Given the description of an element on the screen output the (x, y) to click on. 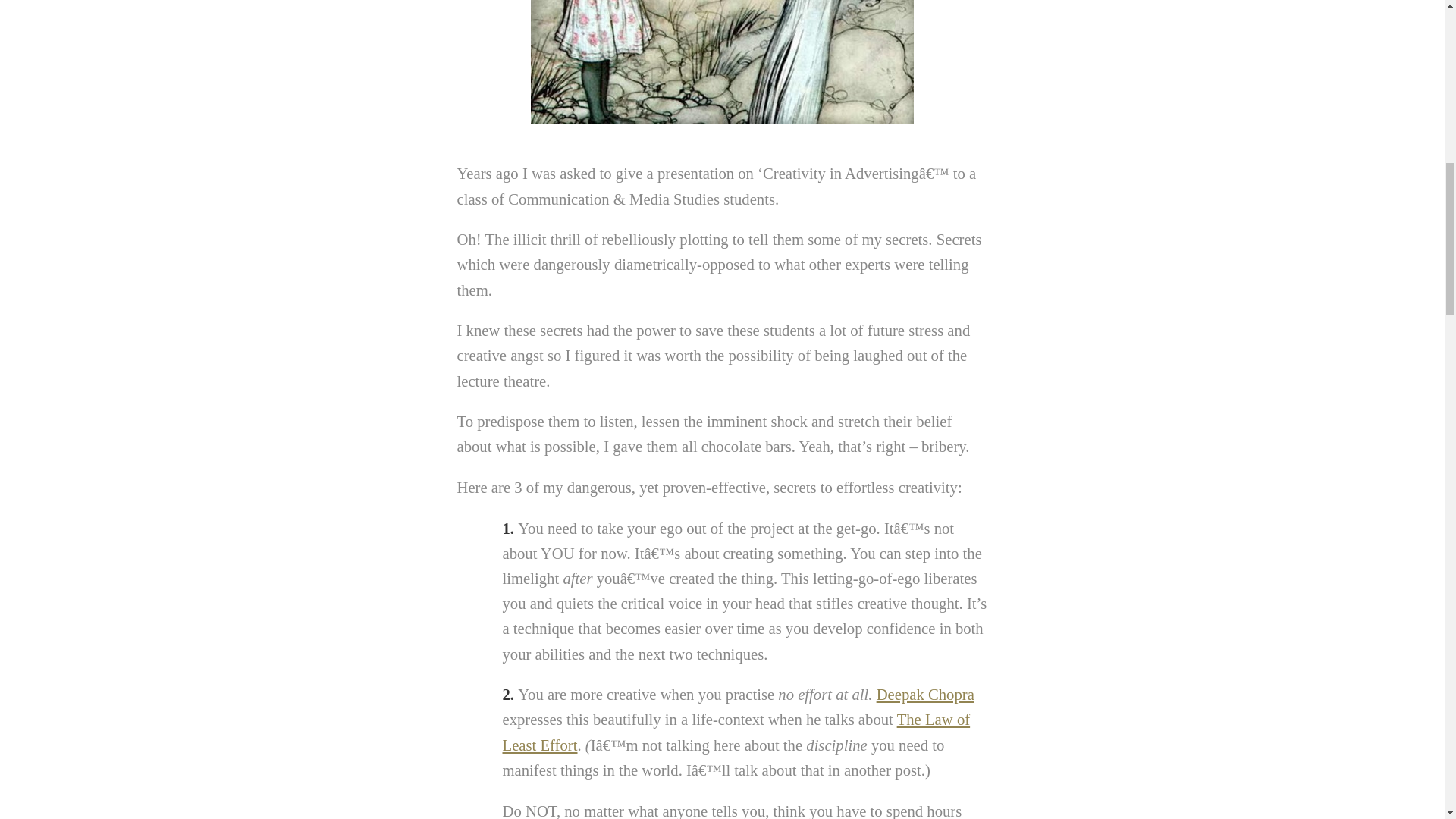
Deepak Chopra (925, 694)
The Law of Least Effort (735, 731)
Advice from the caterpillar, Alice in Wonderland (722, 61)
